Given the description of an element on the screen output the (x, y) to click on. 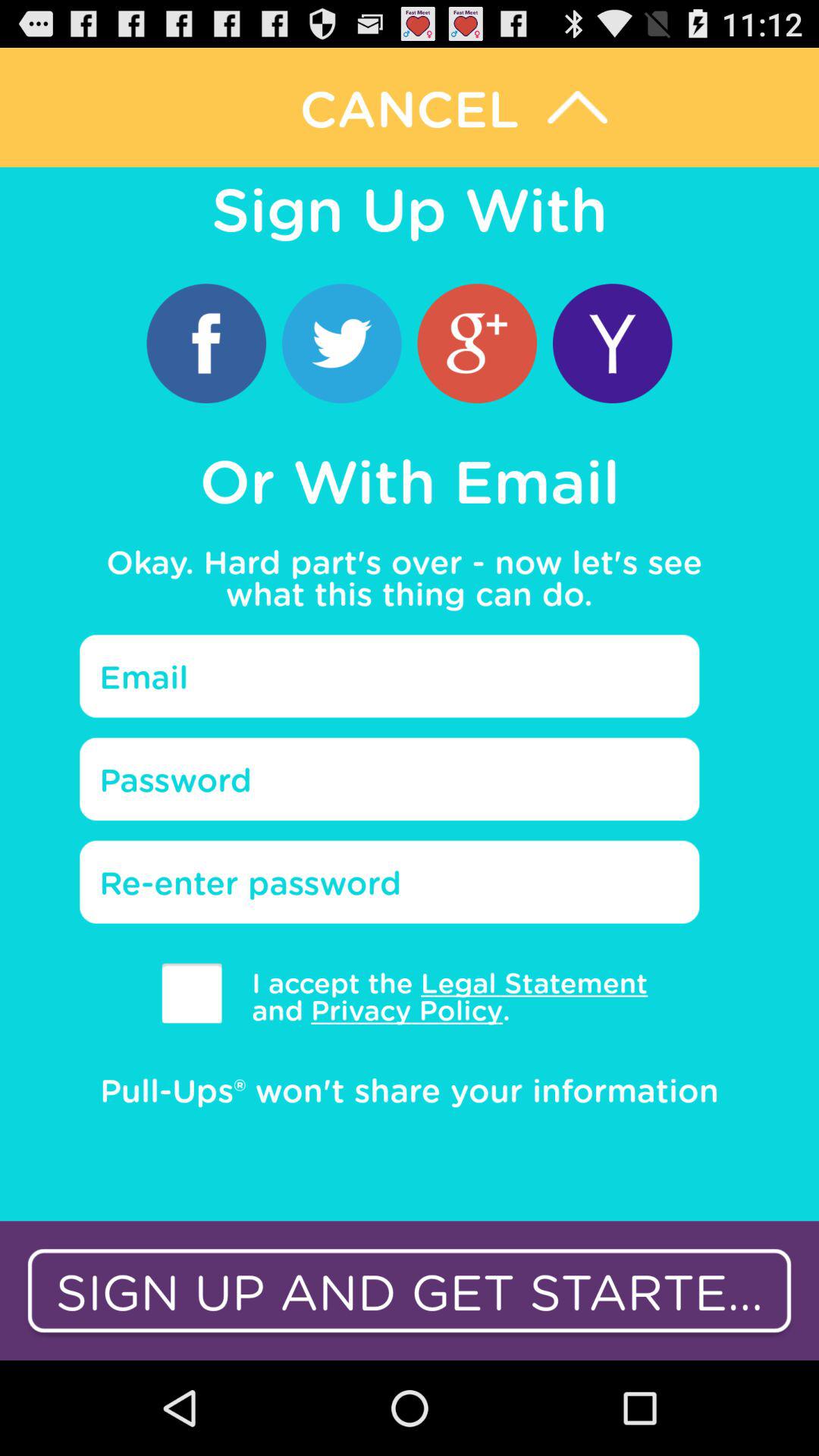
sign up with twitter (341, 343)
